Given the description of an element on the screen output the (x, y) to click on. 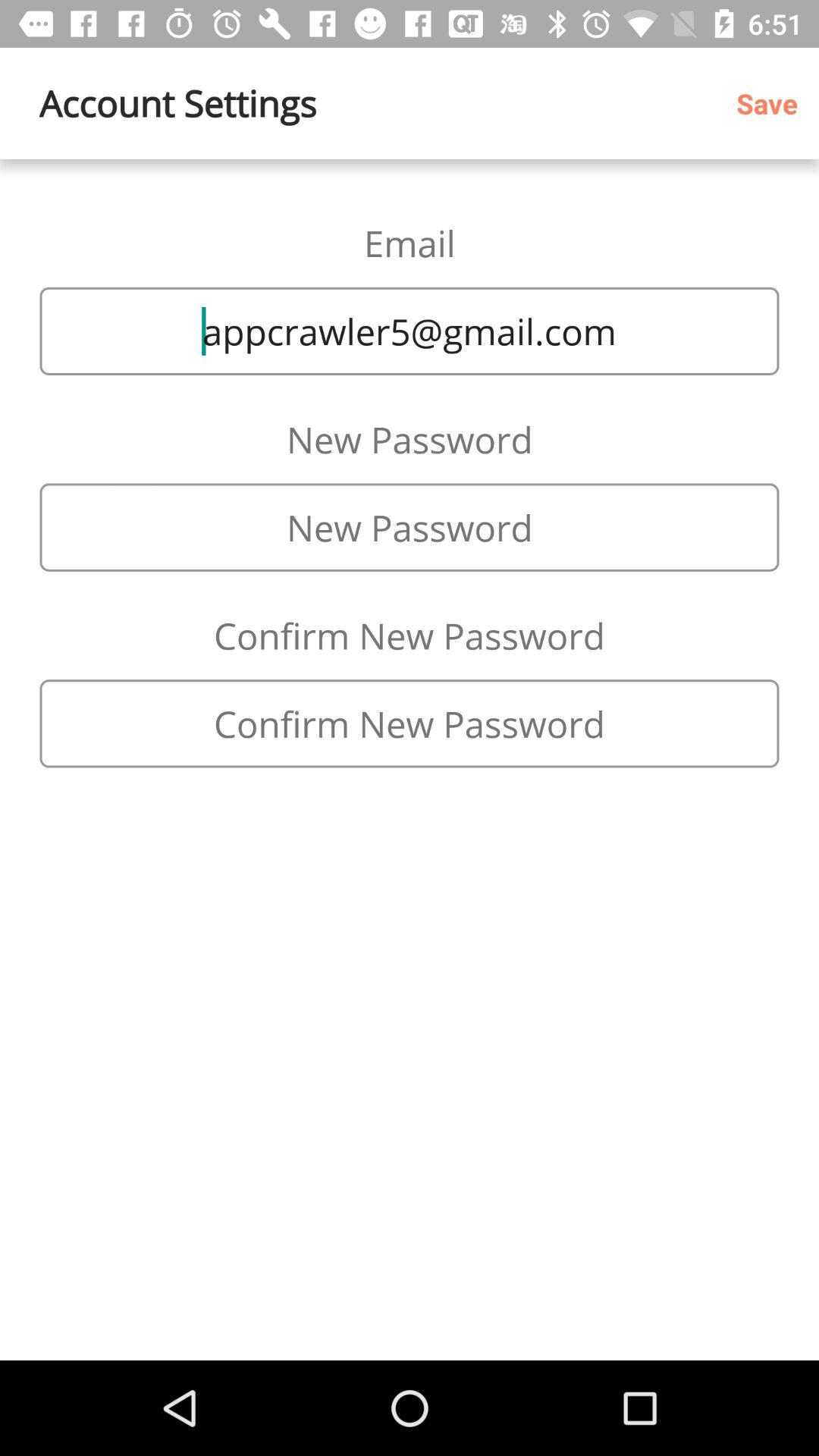
turn off the icon above email item (772, 103)
